Given the description of an element on the screen output the (x, y) to click on. 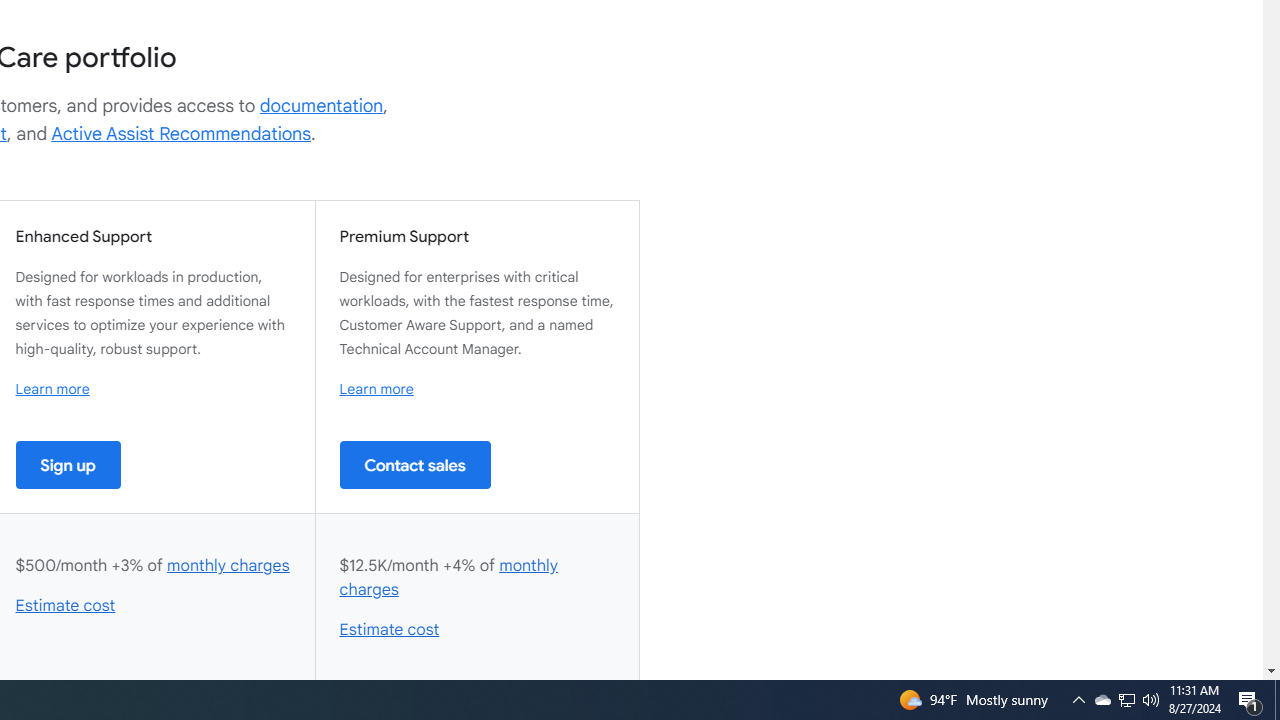
Sign up (68, 464)
Learn more (376, 389)
Estimate cost (389, 629)
monthly charges (449, 577)
Active Assist Recommendations (181, 133)
Contact sales (415, 464)
documentation (321, 105)
